Given the description of an element on the screen output the (x, y) to click on. 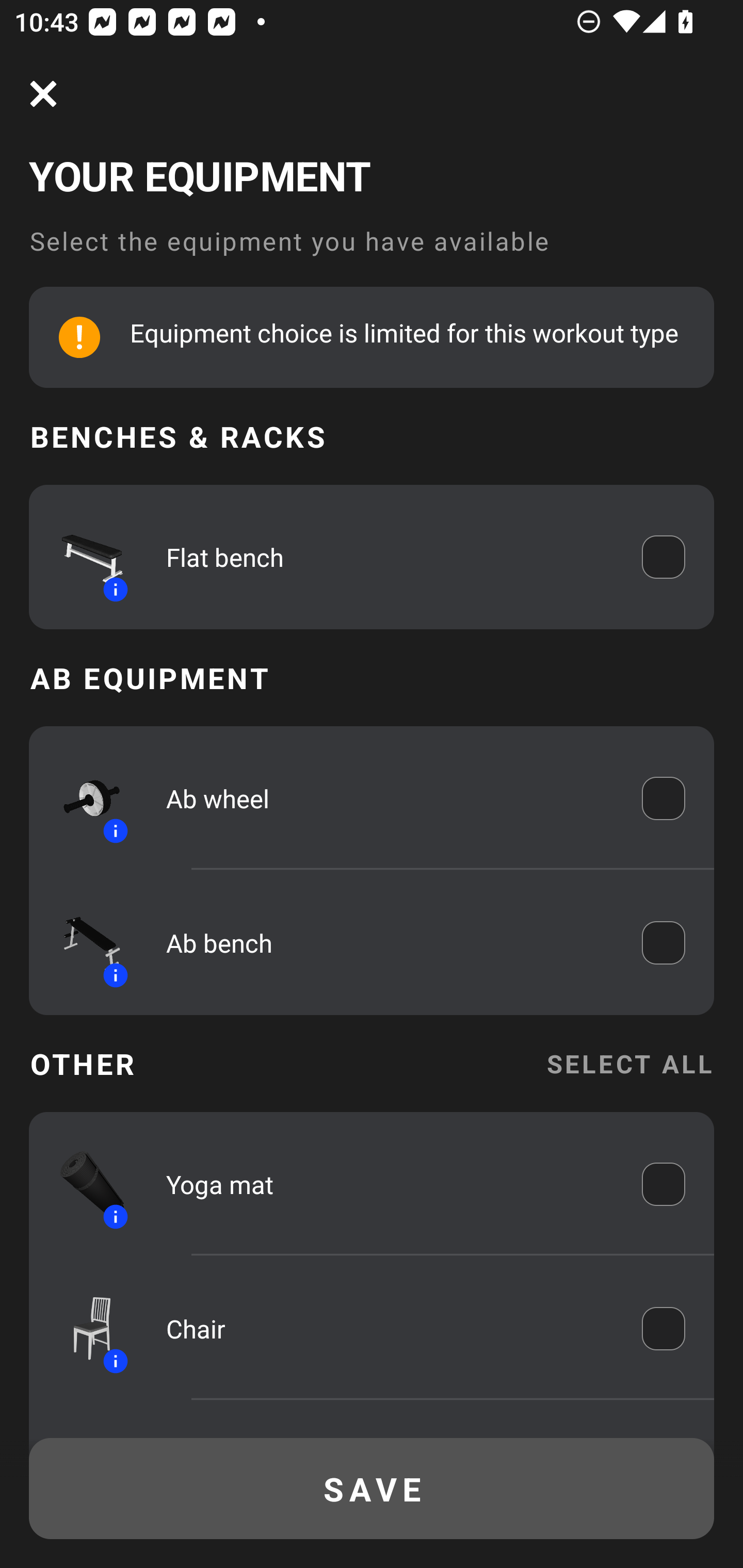
Navigation icon (43, 93)
Equipment icon Information icon (82, 557)
Flat bench (389, 557)
Equipment icon Information icon (82, 798)
Ab wheel (389, 798)
Equipment icon Information icon (82, 943)
Ab bench (389, 943)
SELECT ALL (629, 1063)
Equipment icon Information icon (82, 1184)
Yoga mat (389, 1184)
Equipment icon Information icon (82, 1328)
Chair (389, 1328)
SAVE (371, 1488)
